Given the description of an element on the screen output the (x, y) to click on. 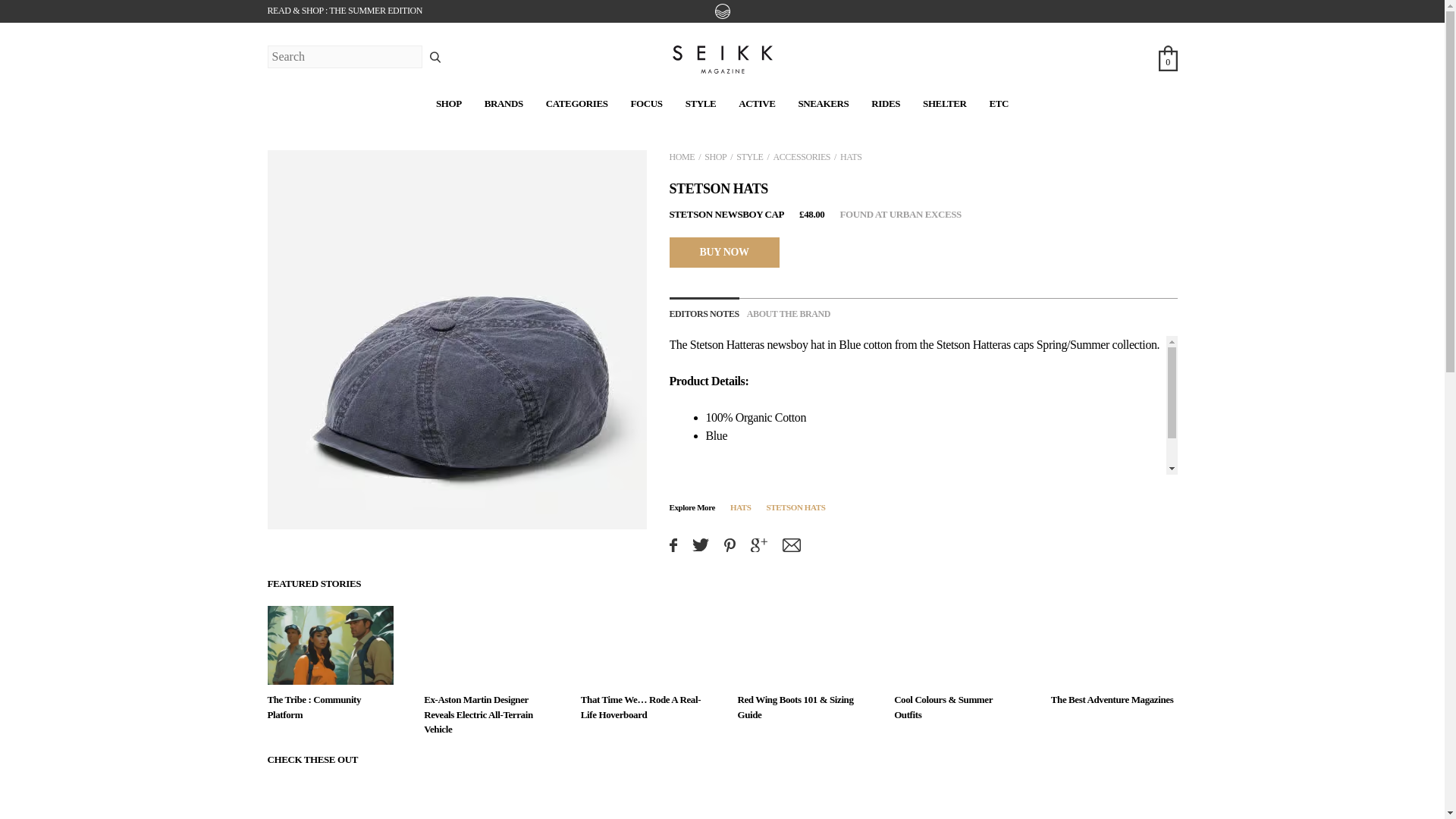
CATEGORIES (577, 102)
SHELTER (944, 102)
STYLE (749, 156)
ACCESSORIES (801, 156)
SNEAKERS (822, 102)
SHOP (448, 102)
RIDES (884, 102)
ETC (998, 102)
STYLE (700, 102)
BUY NOW (723, 251)
HATS (850, 156)
ACTIVE (756, 102)
STETSON HATS (717, 188)
FOCUS (646, 102)
SHOP (715, 156)
